Given the description of an element on the screen output the (x, y) to click on. 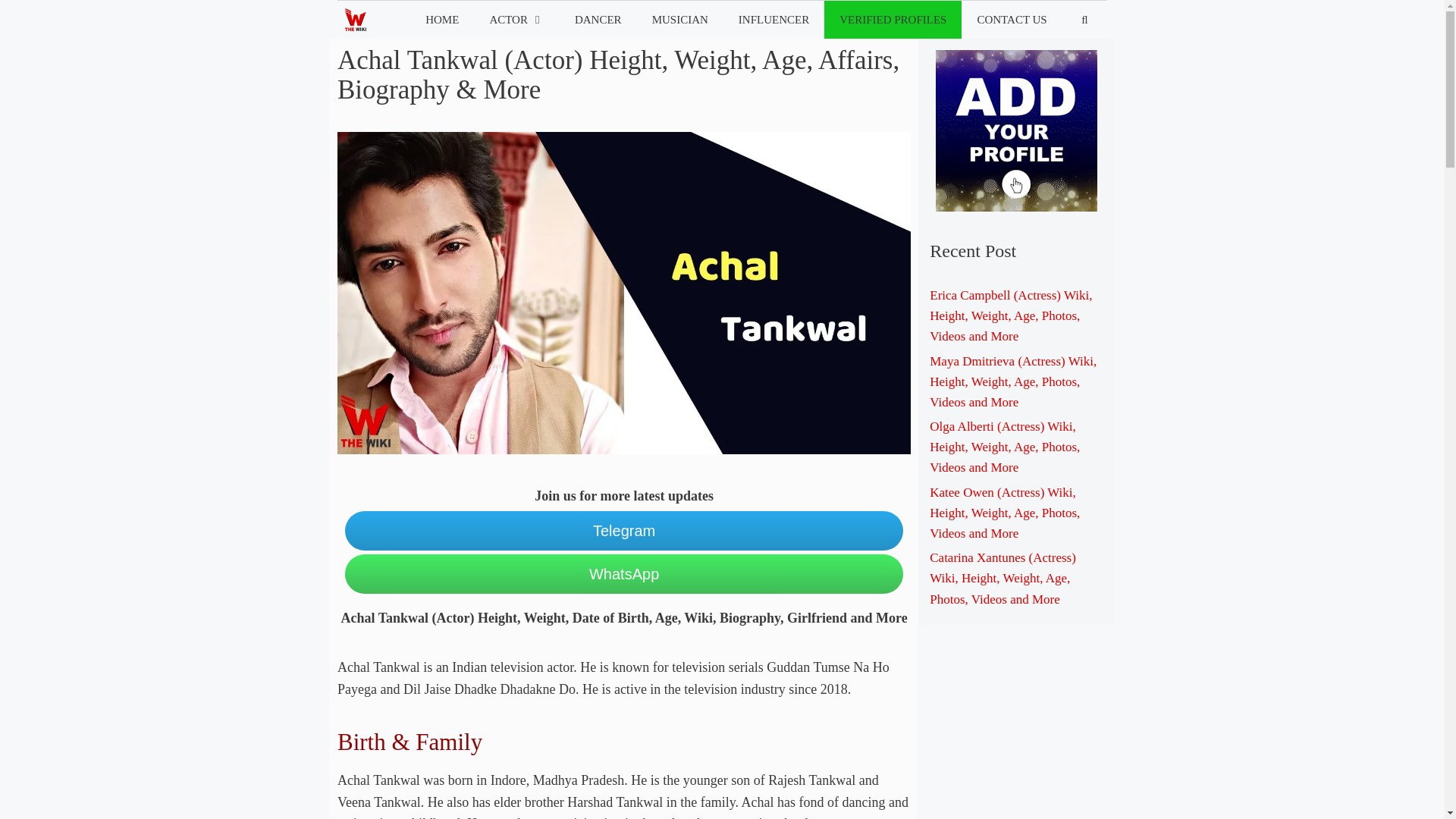
INFLUENCER (773, 19)
CONTACT US (1010, 19)
MUSICIAN (680, 19)
ACTOR (516, 19)
HOME (442, 19)
DANCER (598, 19)
VERIFIED PROFILES (892, 19)
